Given the description of an element on the screen output the (x, y) to click on. 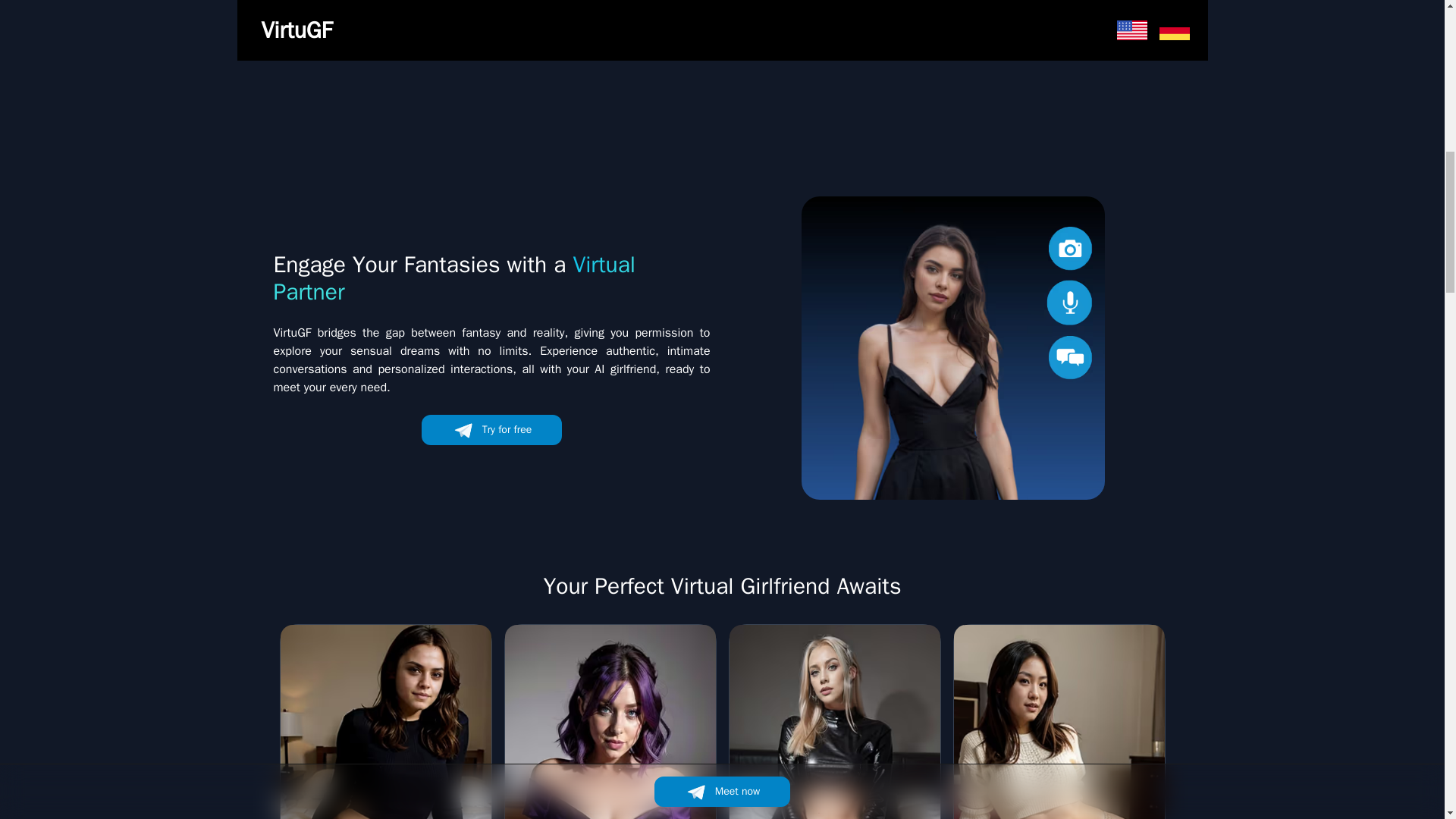
AI girlfriend (951, 347)
Try for free (492, 429)
AI girlfriend (491, 25)
